Given the description of an element on the screen output the (x, y) to click on. 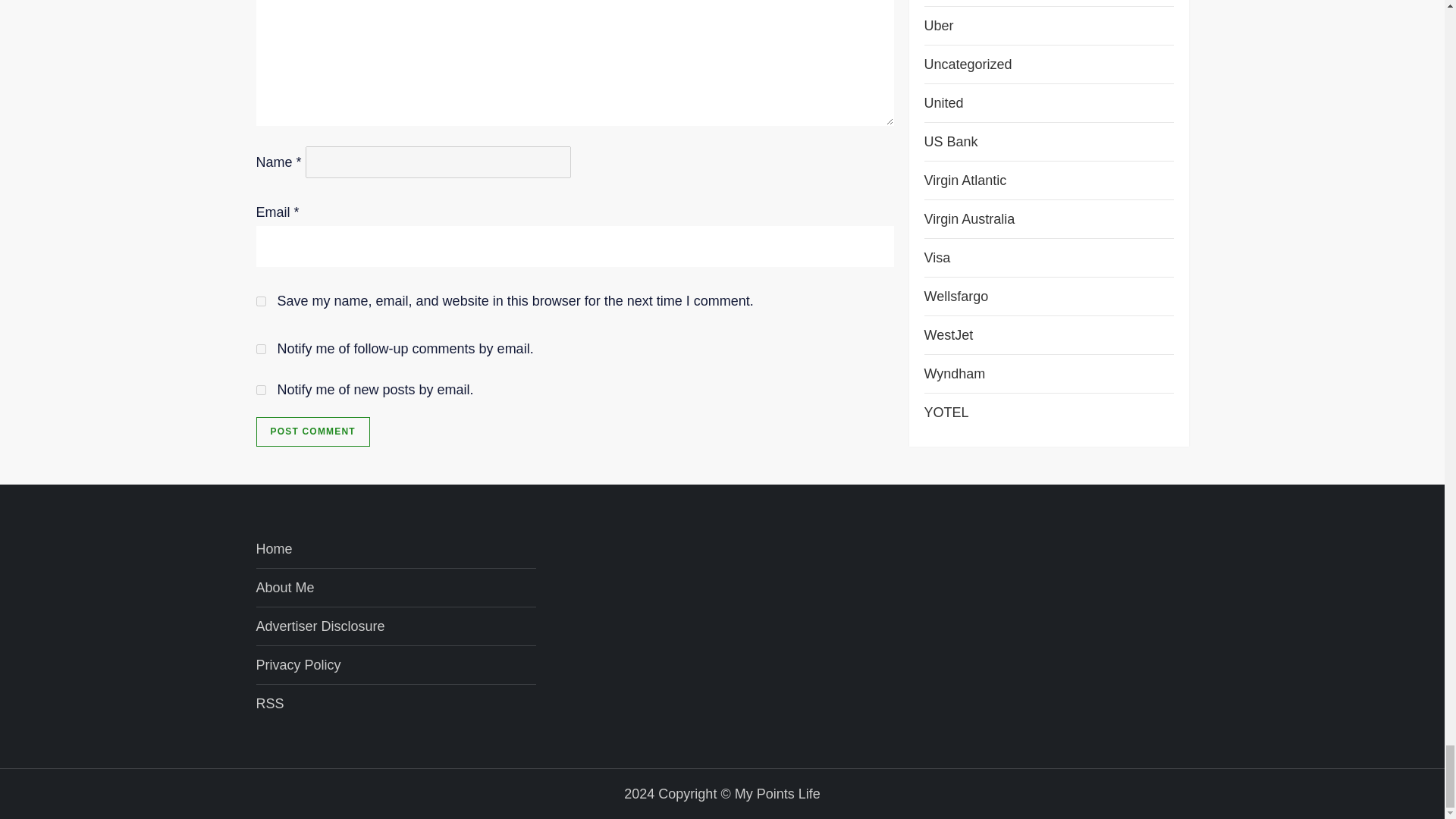
subscribe (261, 348)
Post Comment (312, 431)
subscribe (261, 389)
yes (261, 301)
